Given the description of an element on the screen output the (x, y) to click on. 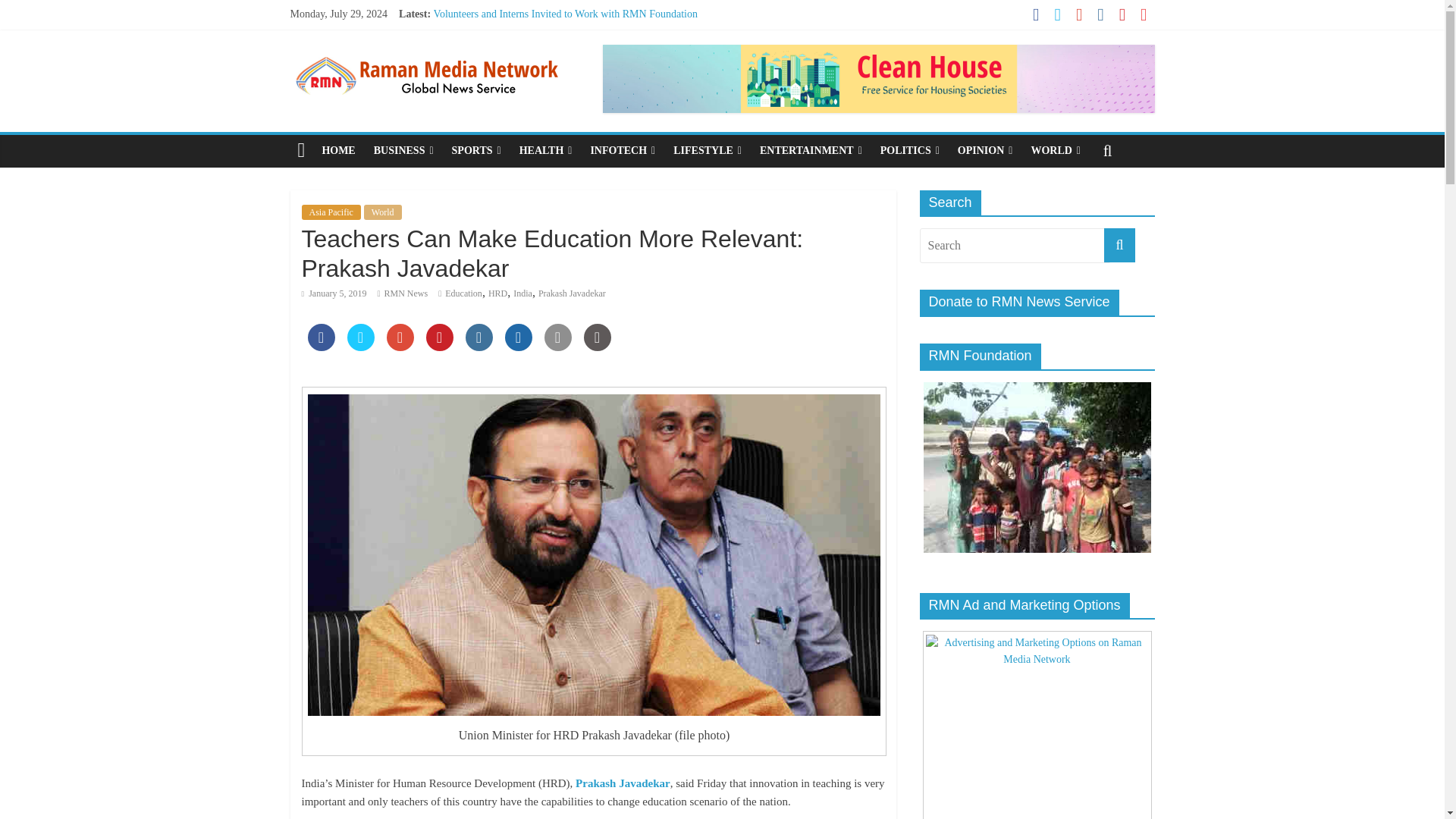
INFOTECH (621, 151)
What Is the Healthiest Diet for Senior Citizens? (535, 48)
Share on Twitter (360, 346)
LIFESTYLE (707, 151)
HEALTH (545, 151)
Share on Google Plus (400, 346)
RMN News (406, 293)
Volunteers and Interns Invited to Work with RMN Foundation (565, 13)
HOME (338, 151)
1:37 PM (333, 293)
Share on Facebook (320, 346)
BUSINESS (403, 151)
Share on Digg (518, 346)
